Given the description of an element on the screen output the (x, y) to click on. 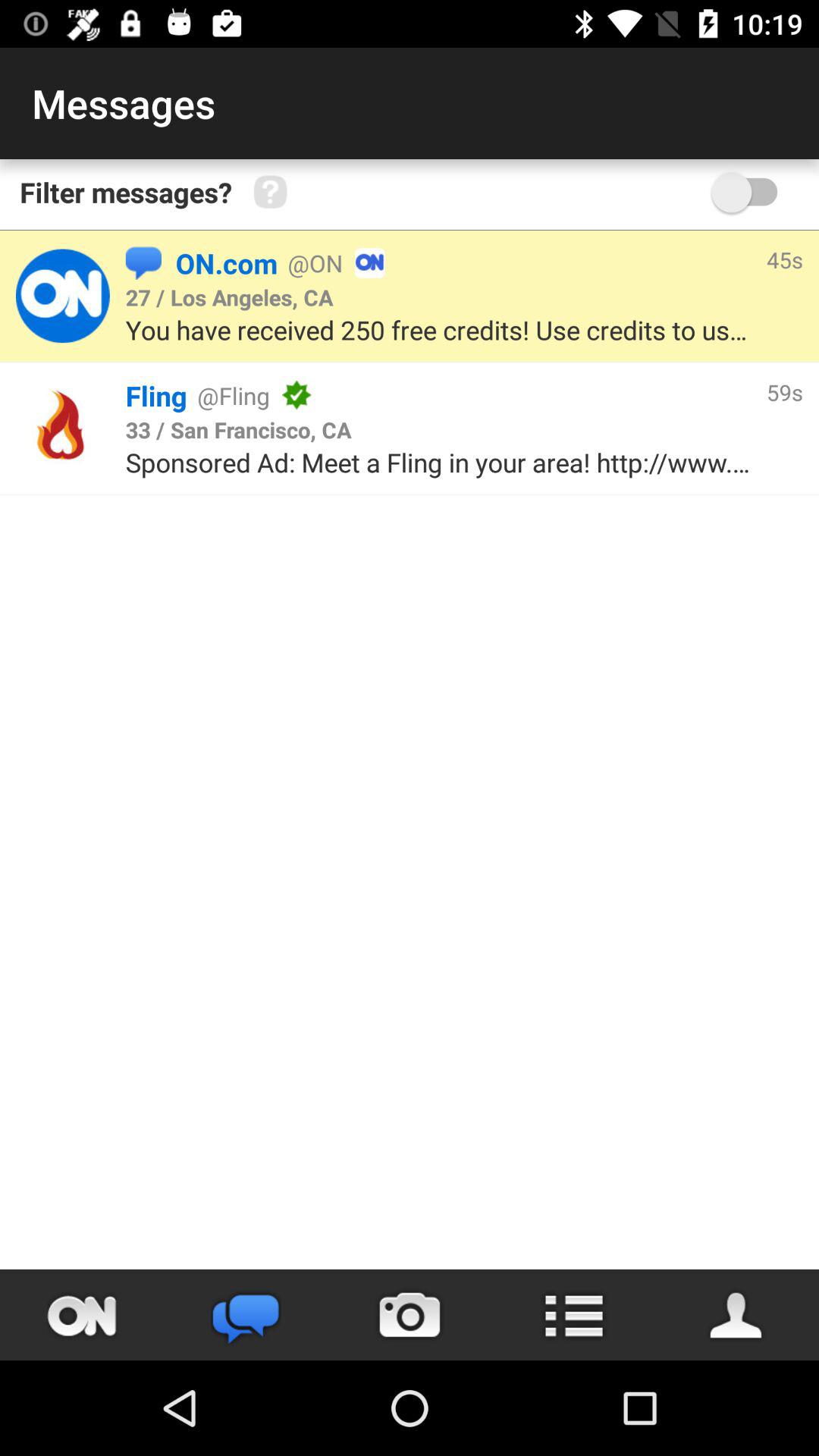
turn on the icon below on.com item (229, 297)
